Given the description of an element on the screen output the (x, y) to click on. 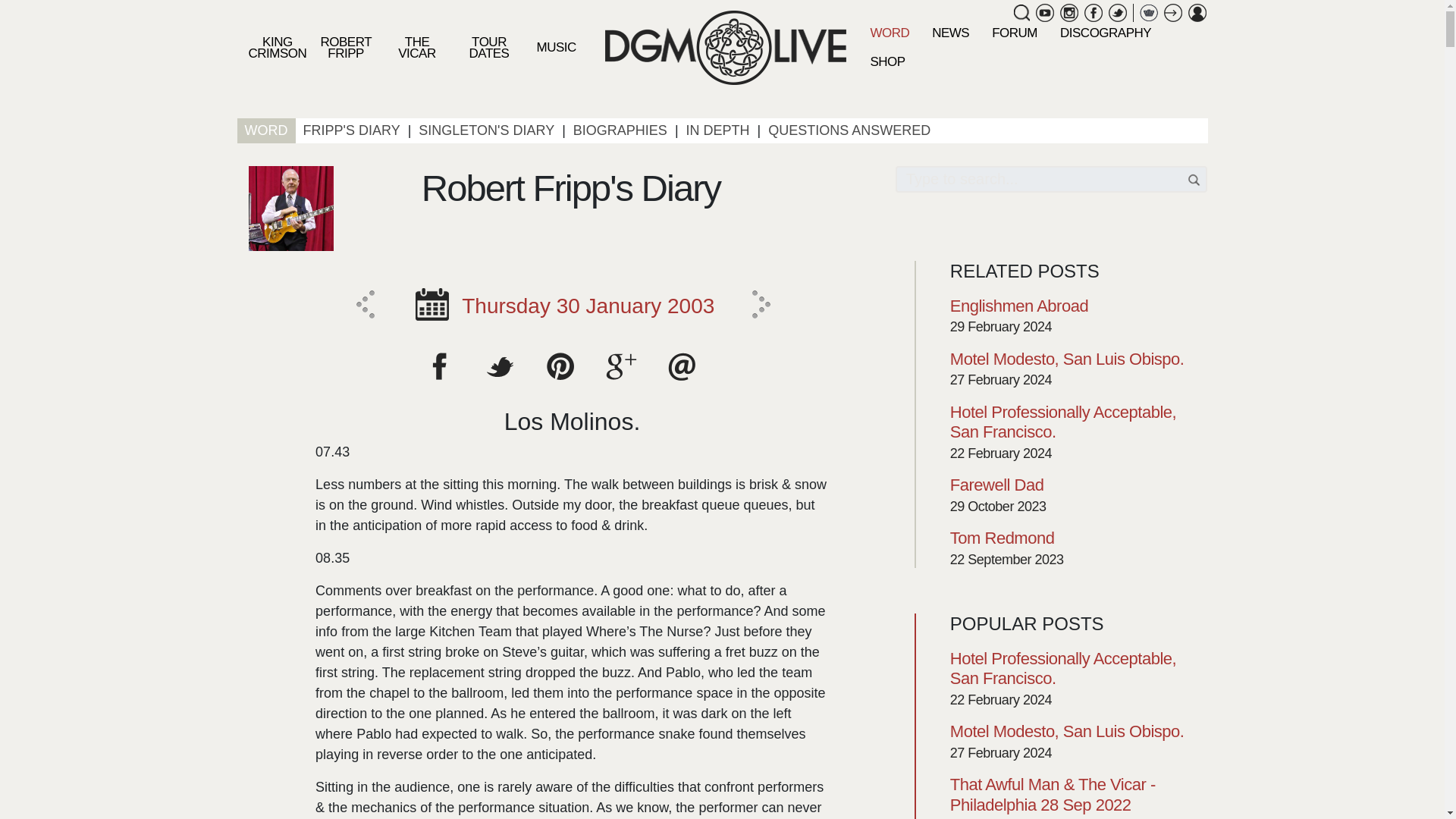
THE VICAR (416, 47)
Select... (431, 304)
SHOP (887, 61)
IN DEPTH (717, 130)
WORD (889, 32)
TOUR DATES (488, 47)
FRIPP'S DIARY (351, 130)
DISCOGRAPHY (1104, 32)
KING CRIMSON (276, 47)
WORD (265, 130)
